Given the description of an element on the screen output the (x, y) to click on. 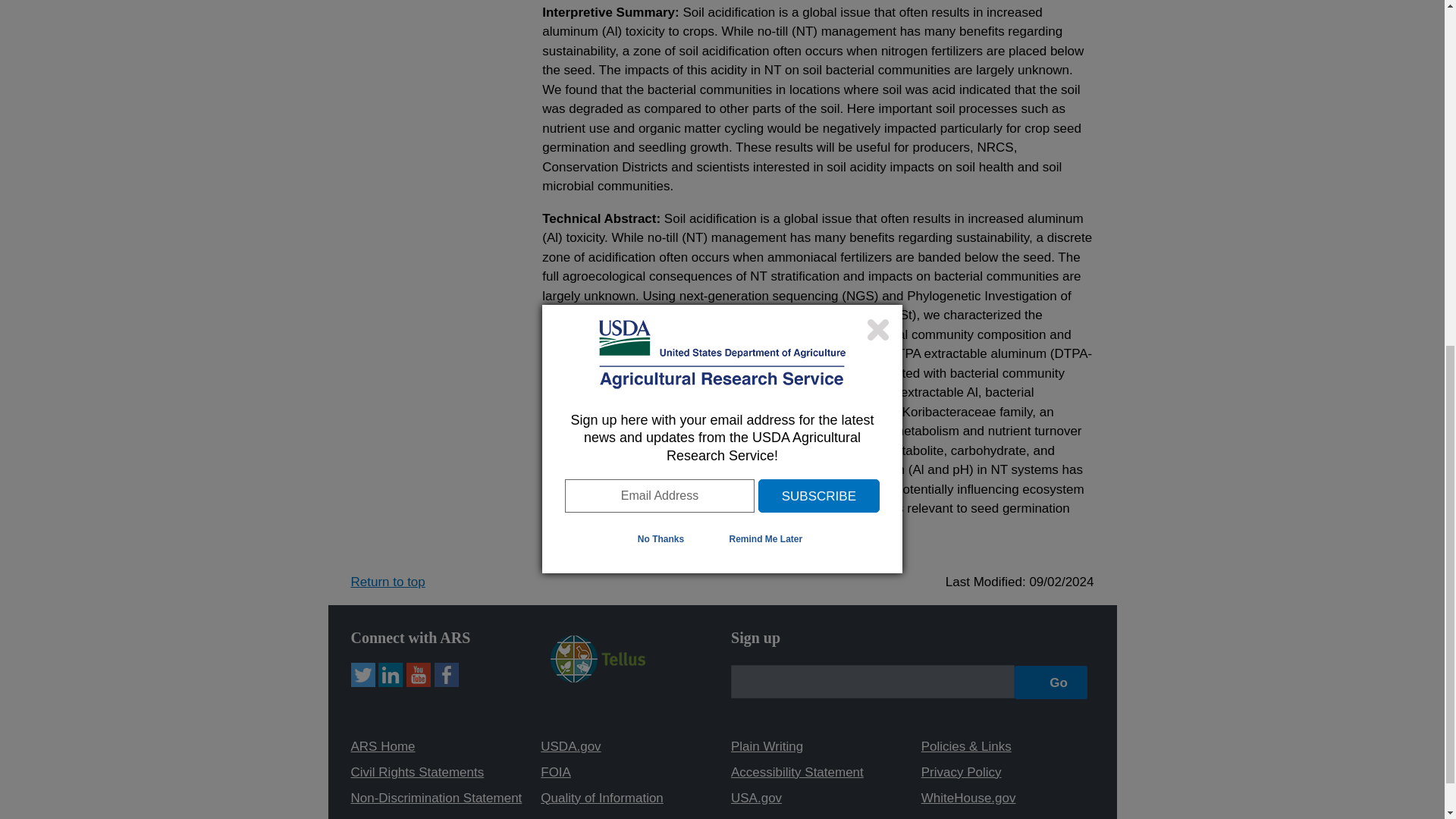
Twitter (362, 674)
Tellus (597, 677)
email (872, 681)
Go (1050, 682)
LinkedIn (390, 674)
Youtube (418, 674)
Tellus (597, 658)
Facebook Icon (445, 674)
